Given the description of an element on the screen output the (x, y) to click on. 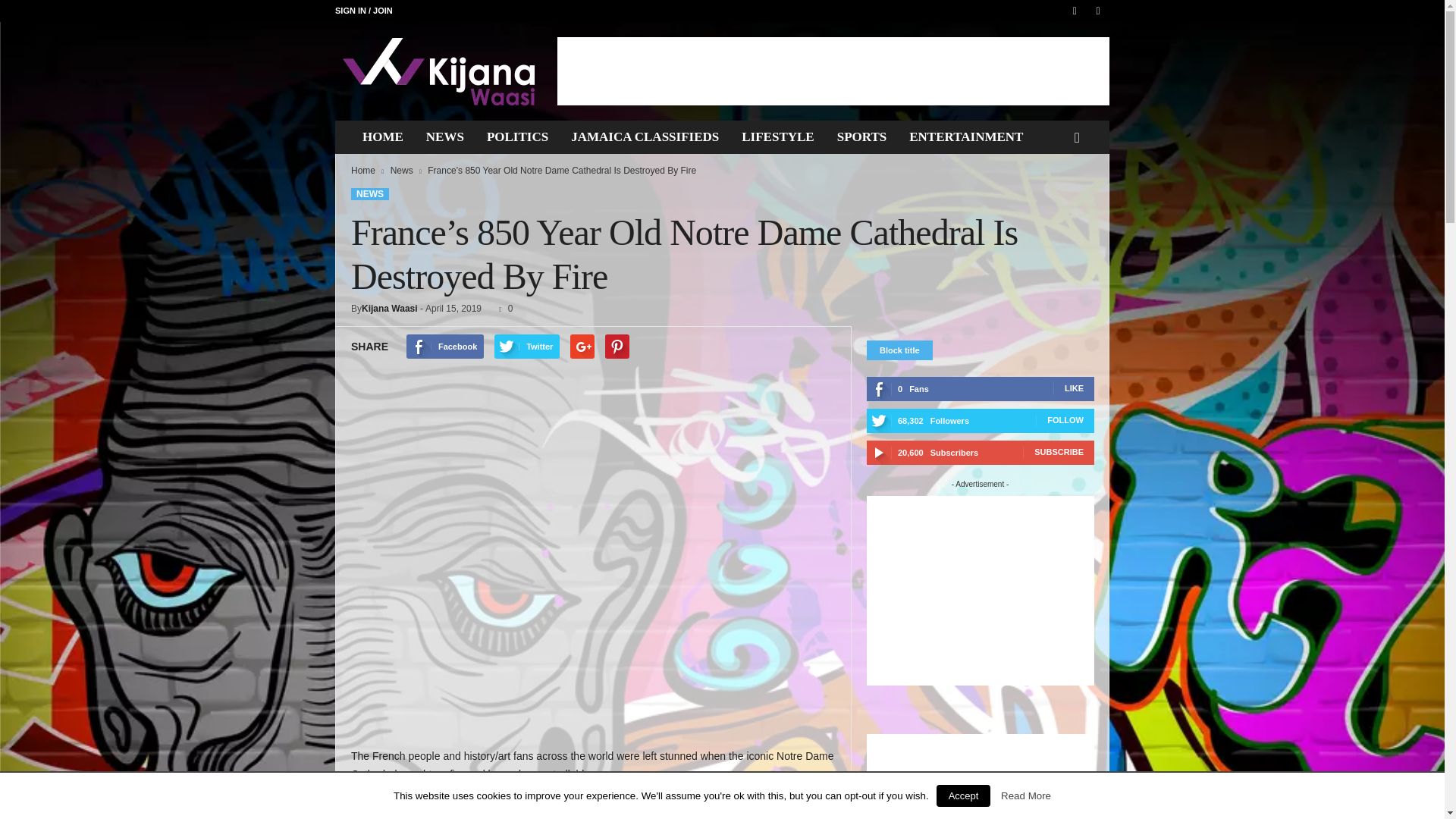
Jamaica News (437, 70)
NEWS (445, 136)
View all posts in News (401, 170)
JAMAICA CLASSIFIEDS (644, 136)
LIFESTYLE (777, 136)
Advertisement (833, 70)
ENTERTAINMENT (965, 136)
Home (362, 170)
HOME (382, 136)
POLITICS (517, 136)
